Given the description of an element on the screen output the (x, y) to click on. 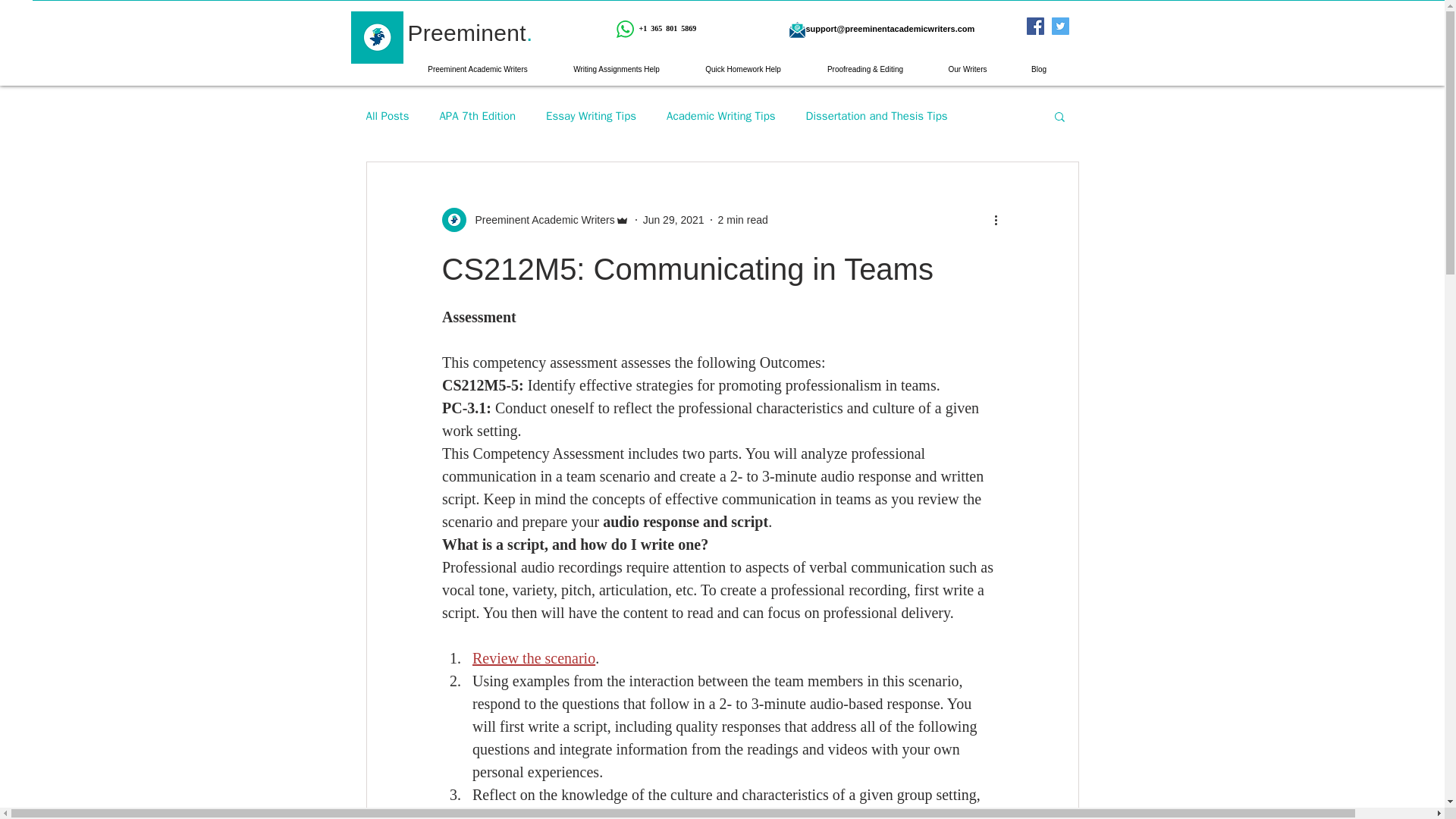
All Posts (387, 115)
Academic Writing Tips (721, 115)
Writing Assignments Help (615, 69)
Preeminent Academic Writers (477, 69)
Preeminent. (469, 32)
Blog (1038, 69)
Review the scenario (532, 658)
Essay Writing Tips (591, 115)
Dissertation and Thesis Tips (876, 115)
2 min read (742, 219)
